Given the description of an element on the screen output the (x, y) to click on. 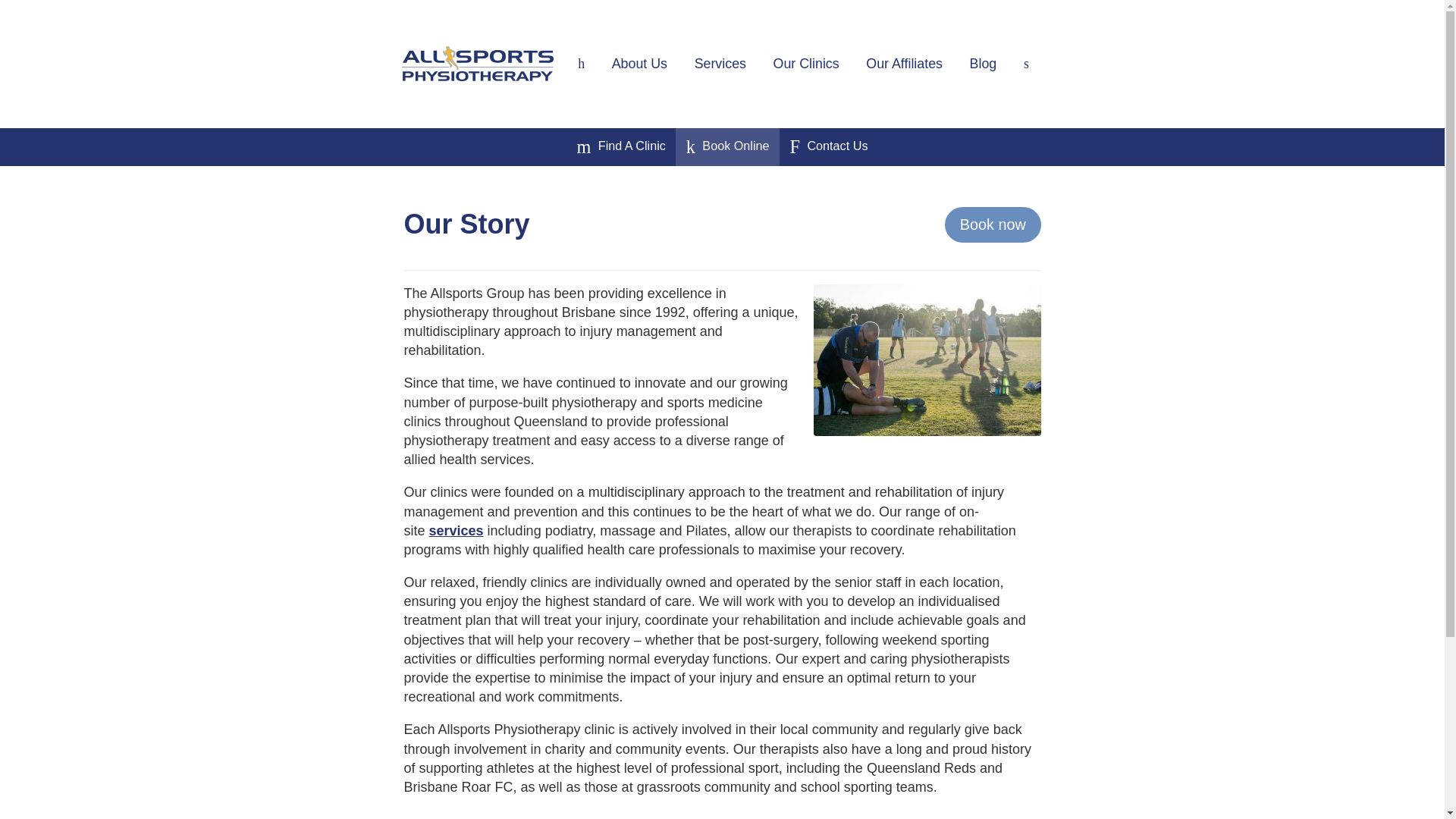
Contact Us (828, 146)
Book Online (727, 146)
Western-Pride-Physio-Treatment (926, 359)
Services (720, 63)
Home (581, 63)
Find A Clinic (620, 146)
h (581, 63)
About Us (639, 63)
